Given the description of an element on the screen output the (x, y) to click on. 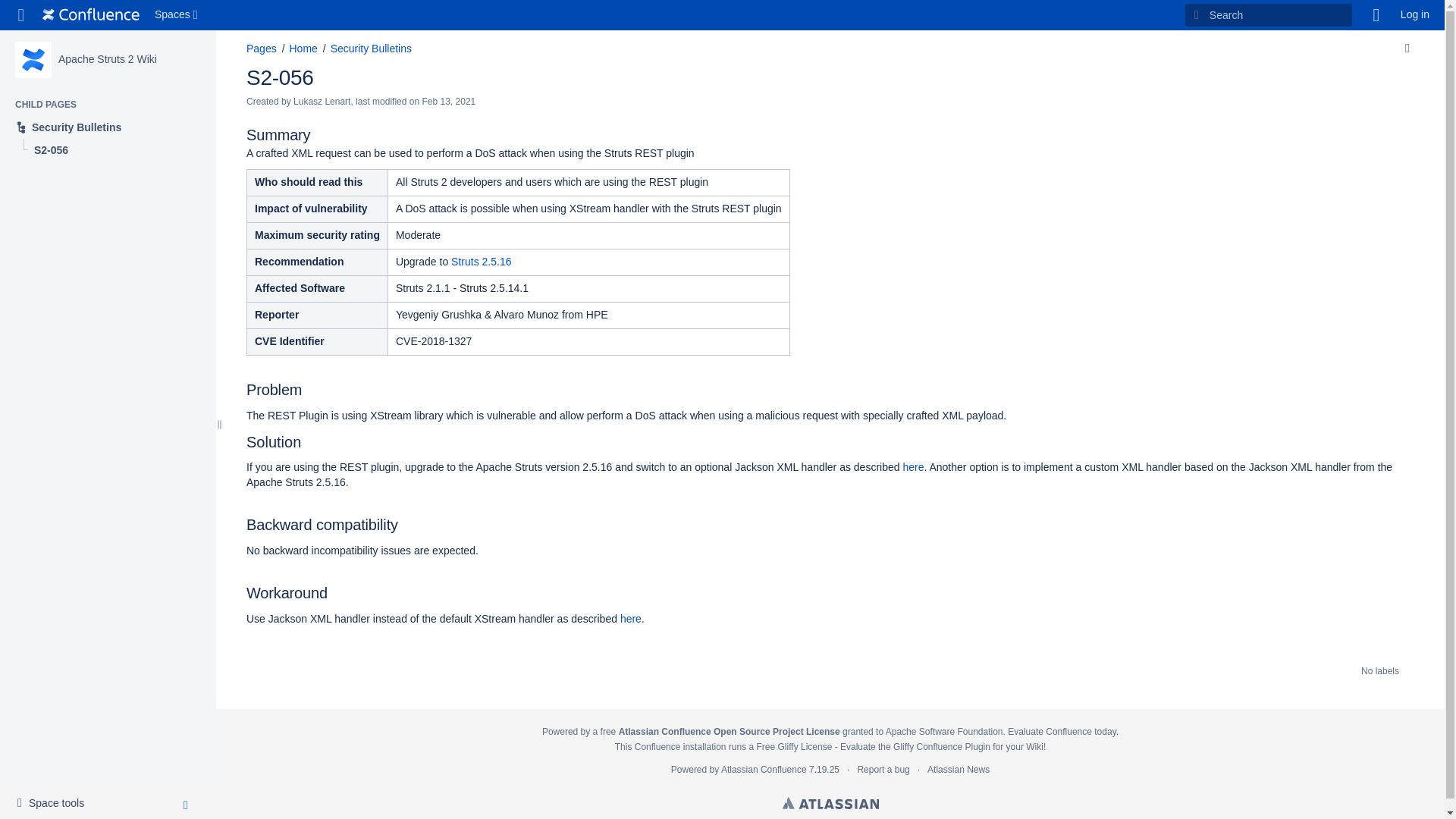
S2-056 (280, 77)
Apache Software Foundation (90, 15)
Help (1376, 15)
Apache Struts 2 Wiki (54, 803)
Log in (107, 59)
Linked Applications (1415, 15)
Security Bulletins (20, 15)
Spaces (107, 127)
Apache Struts 2 Wiki (177, 15)
Home (107, 59)
Lukasz Lenart (302, 48)
Security Bulletins (322, 101)
Help (371, 48)
Spaces (1376, 15)
